Given the description of an element on the screen output the (x, y) to click on. 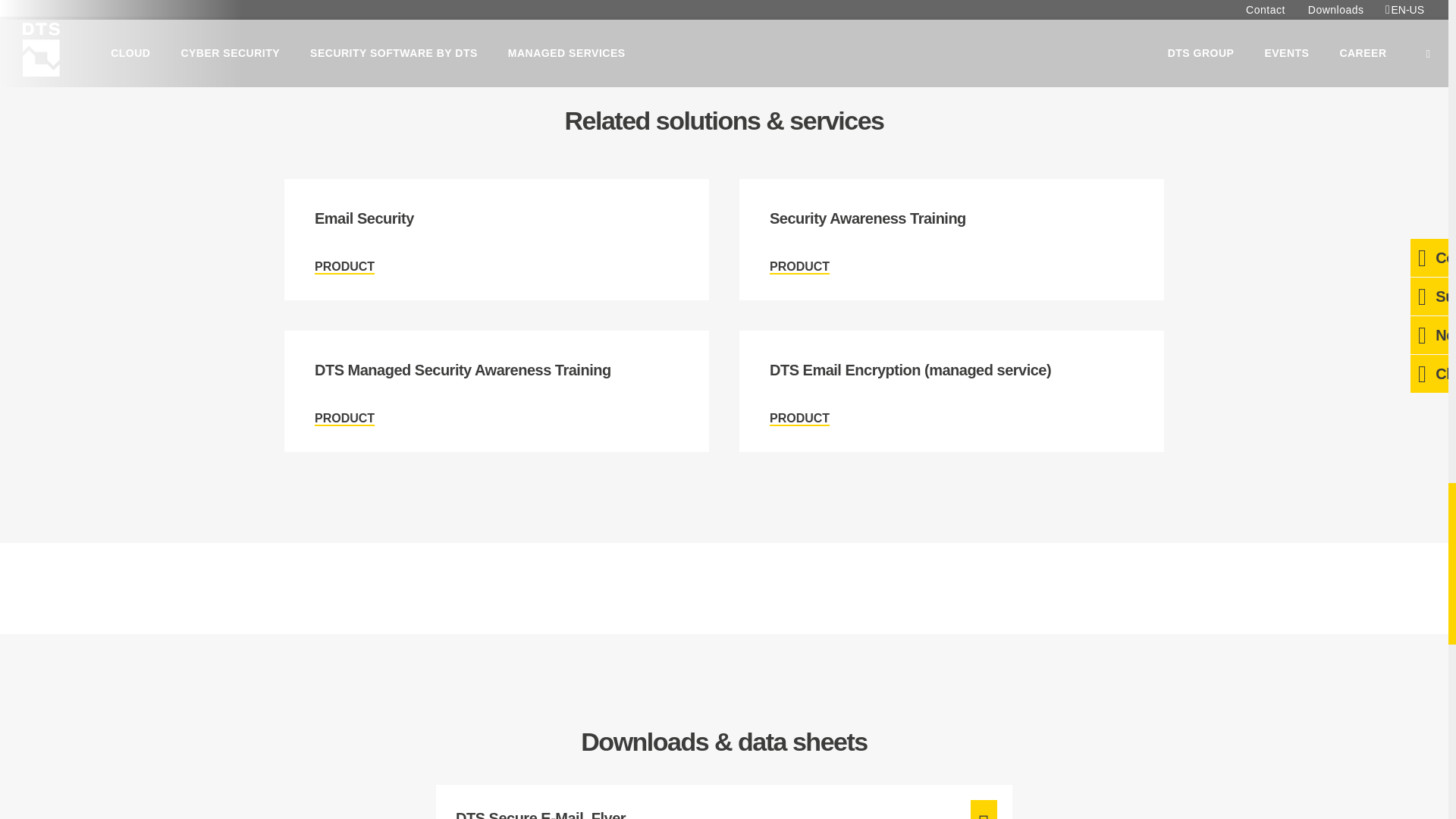
Product (496, 239)
Product (344, 266)
Product (799, 266)
Product (951, 239)
